Given the description of an element on the screen output the (x, y) to click on. 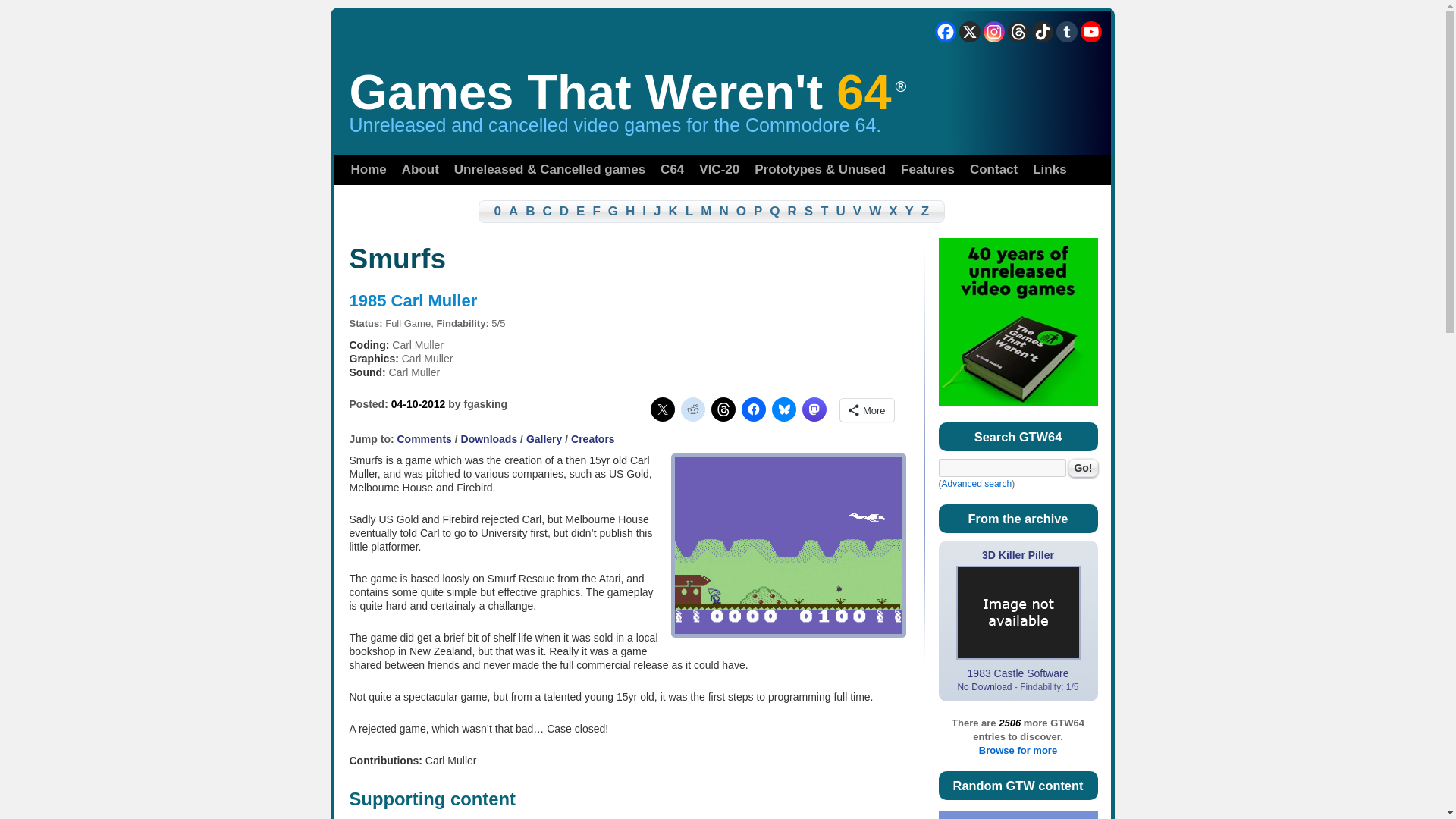
Threads (1017, 31)
VIC-20 (718, 169)
Youtube Channel (1090, 31)
Various other site features and interviews (927, 169)
Home (367, 169)
Links (1049, 169)
Tumblr (1066, 31)
0 (490, 210)
Prototypes, Unused materials and early differences (819, 169)
About (420, 169)
Commodore Vic 20 unreleased games area (718, 169)
Go! (1082, 467)
X (968, 31)
Home page and latest news (367, 169)
Instagram (993, 31)
